Given the description of an element on the screen output the (x, y) to click on. 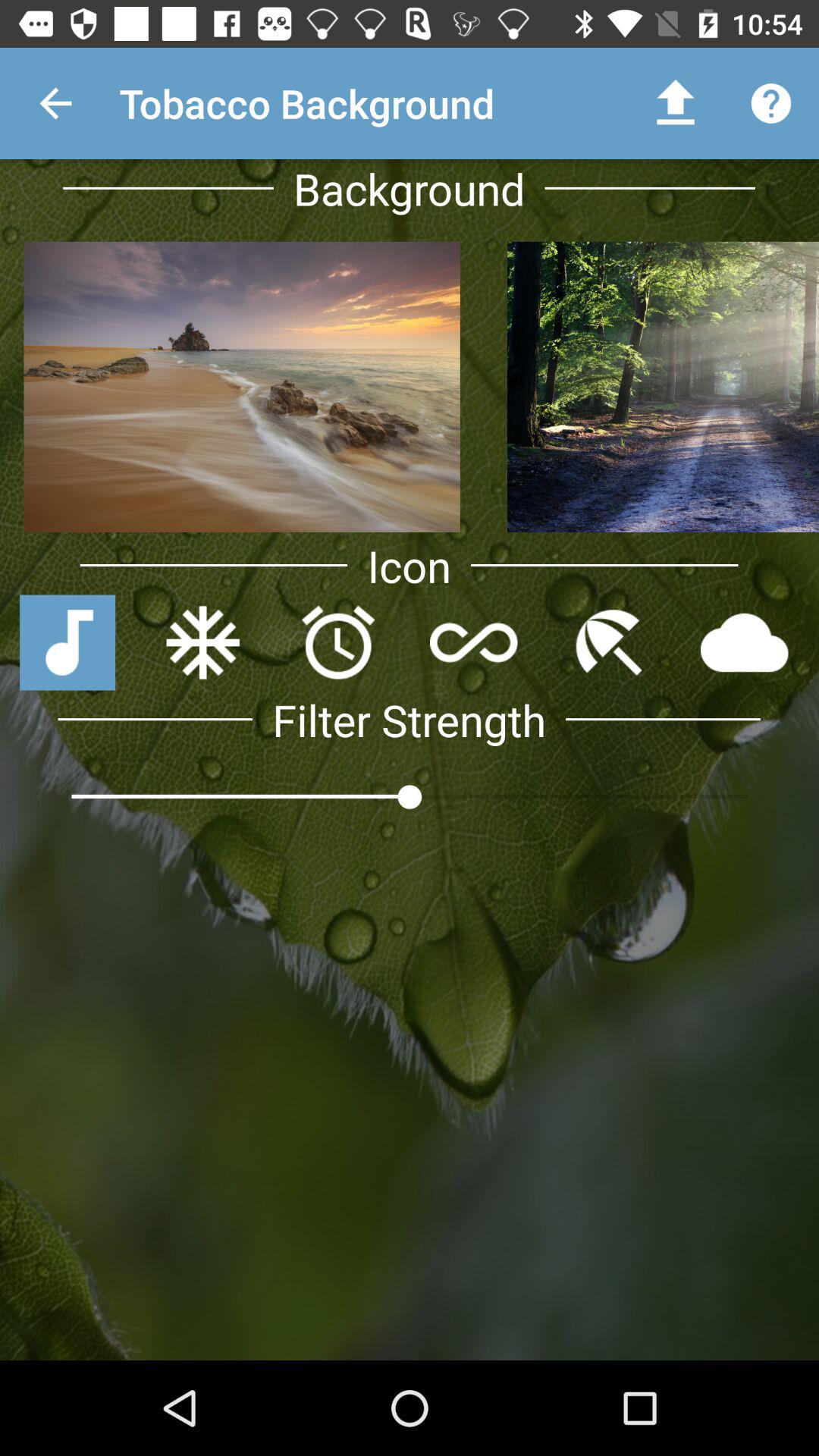
tap app to the left of the tobacco background (55, 103)
